Given the description of an element on the screen output the (x, y) to click on. 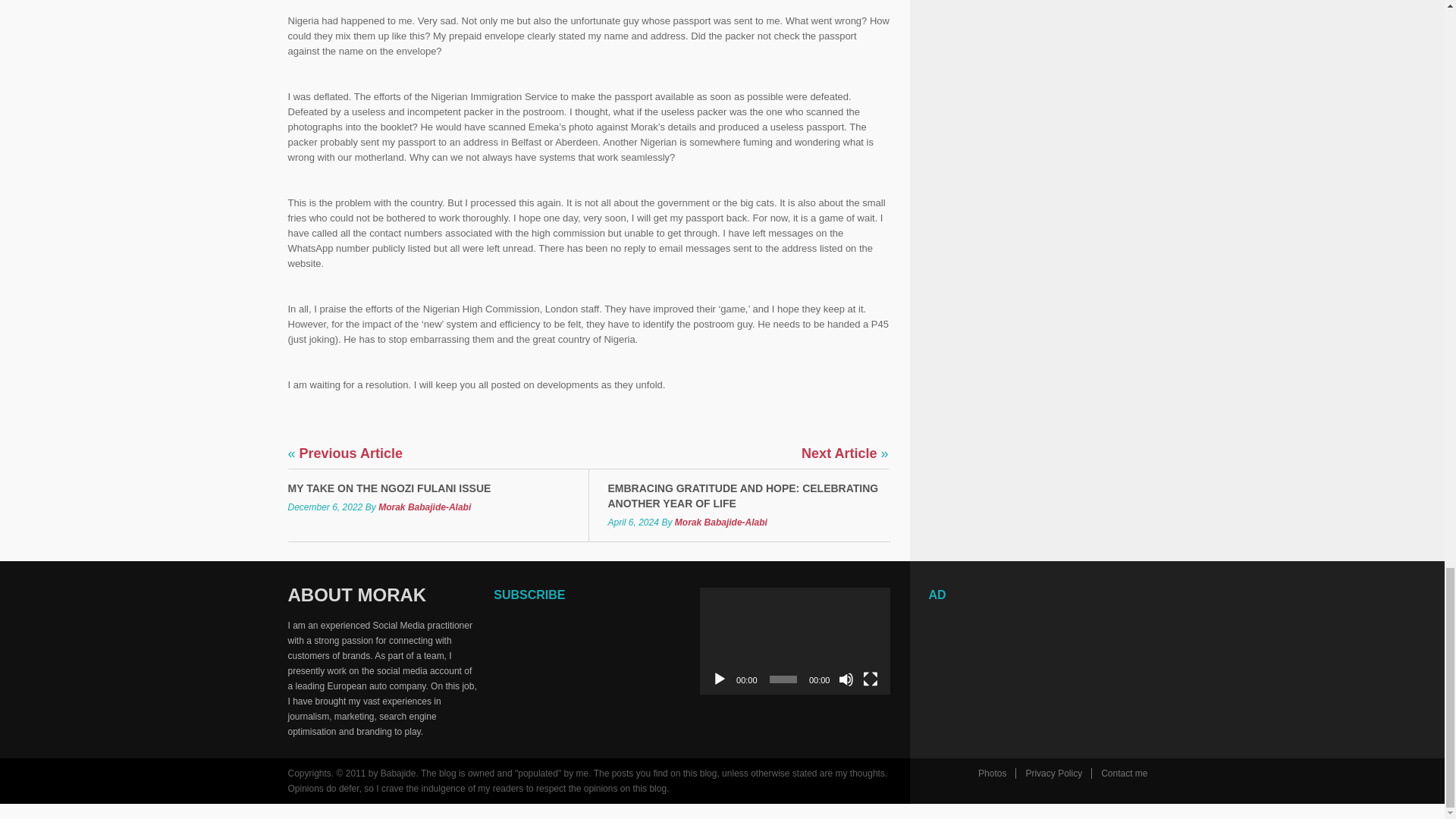
MY TAKE ON THE NGOZI FULANI ISSUE (428, 488)
Mute (845, 679)
Morak Babajide-Alabi (424, 507)
Play (718, 679)
Morak Babajide-Alabi (721, 521)
